Given the description of an element on the screen output the (x, y) to click on. 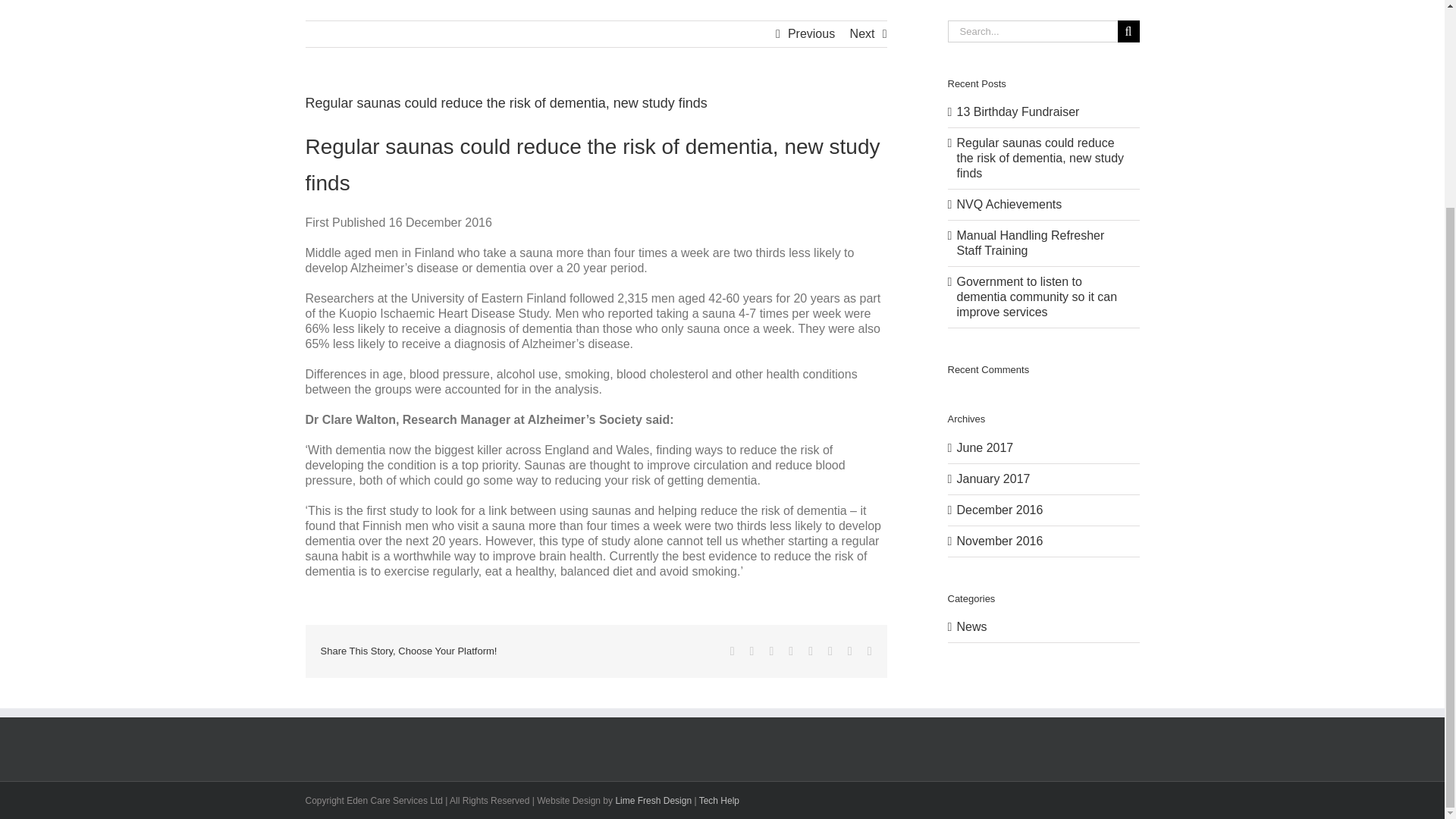
News (1044, 626)
June 2017 (984, 447)
13 Birthday Fundraiser (1018, 111)
Lime Fresh Design (652, 800)
November 2016 (999, 540)
Tech Help (718, 800)
Manual Handling Refresher Staff Training (1030, 243)
December 2016 (999, 509)
